Given the description of an element on the screen output the (x, y) to click on. 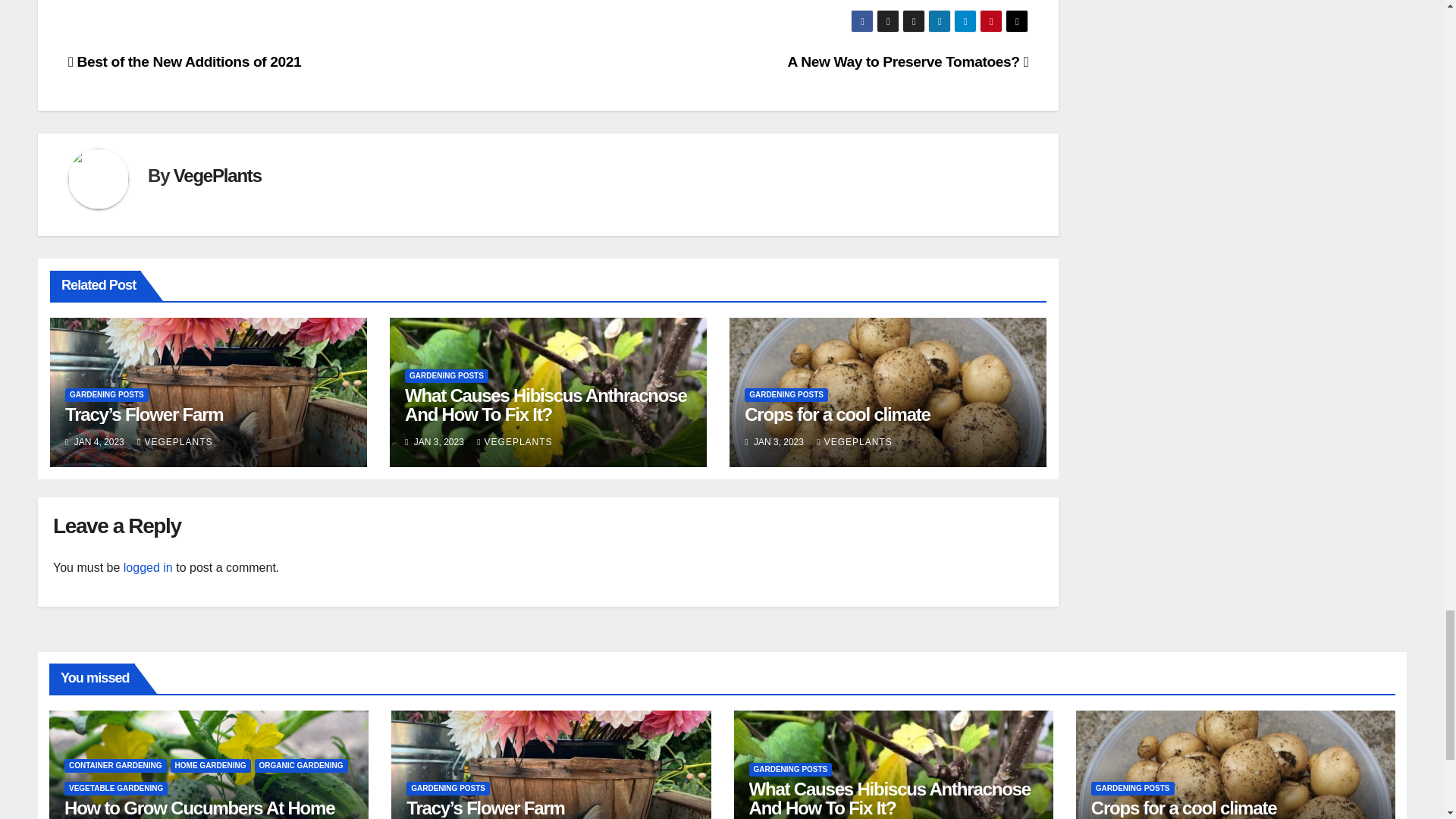
What Causes Hibiscus Anthracnose And How To Fix It? (544, 404)
Permalink to: Crops for a cool climate (837, 414)
A New Way to Preserve Tomatoes? (907, 61)
GARDENING POSTS (106, 395)
GARDENING POSTS (445, 376)
VEGEPLANTS (174, 441)
VEGEPLANTS (514, 441)
Best of the New Additions of 2021 (184, 61)
VegePlants (217, 175)
